Given the description of an element on the screen output the (x, y) to click on. 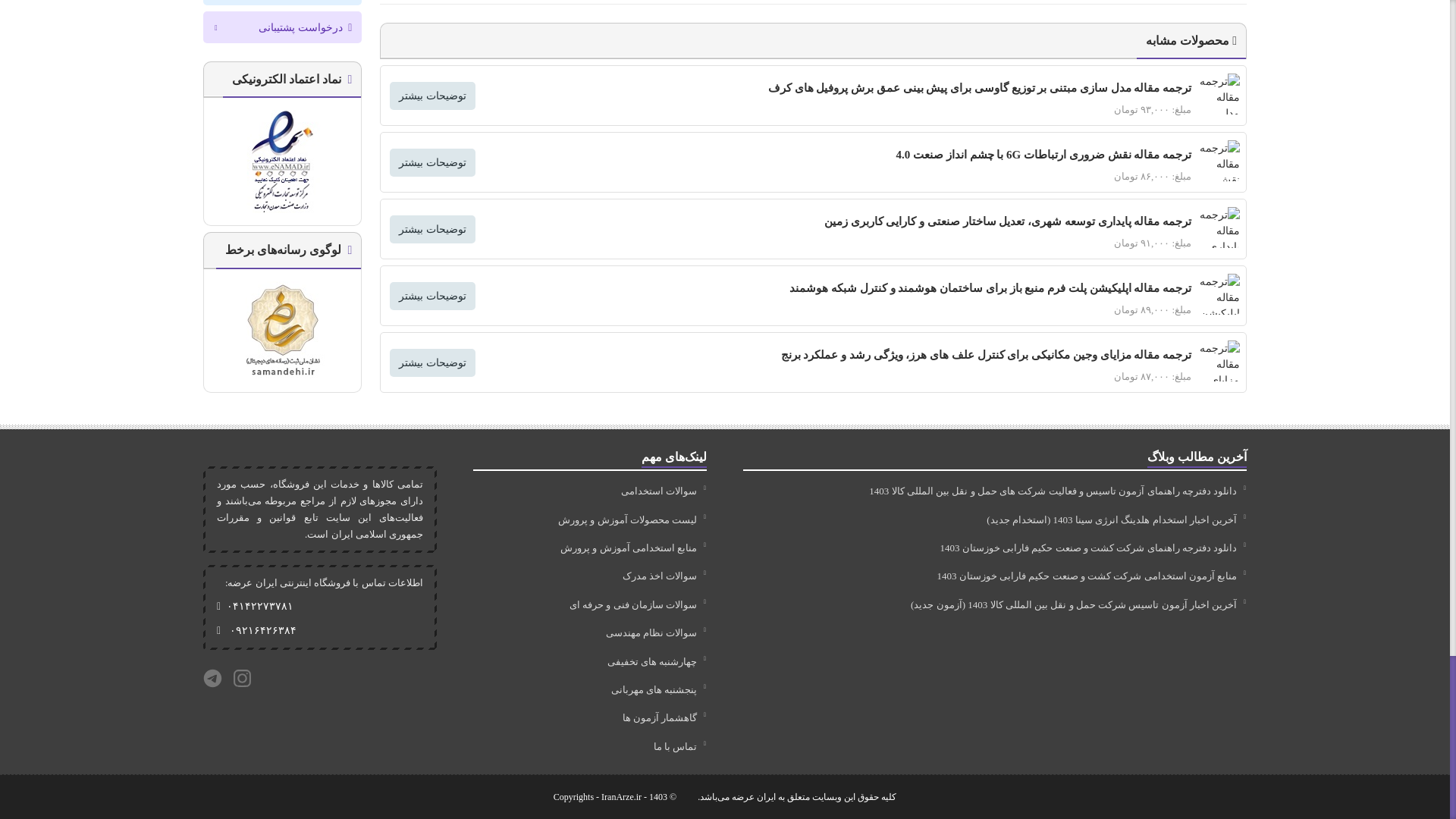
telegram (212, 678)
